Given the description of an element on the screen output the (x, y) to click on. 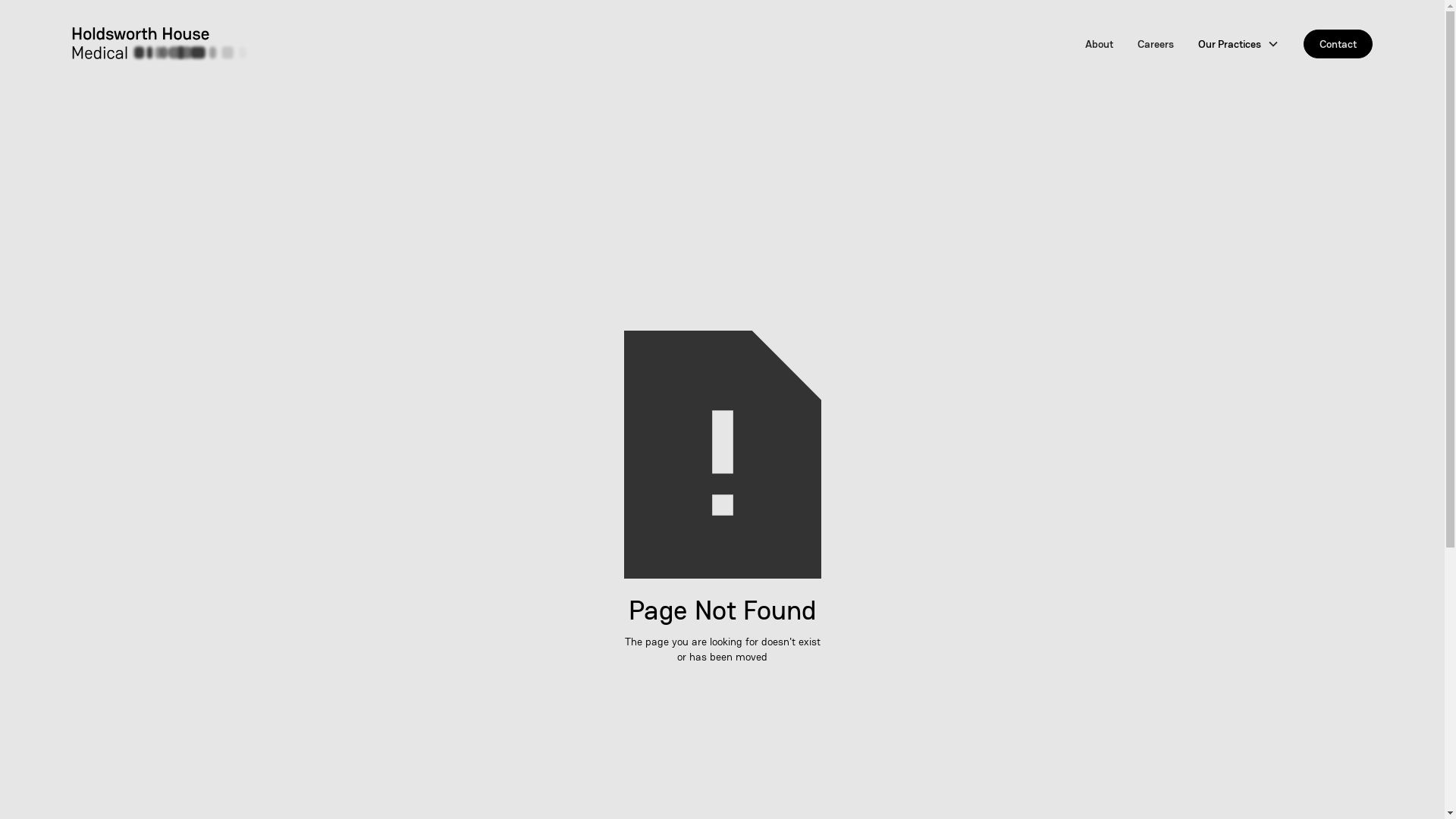
Careers Element type: text (1155, 43)
About Element type: text (1099, 43)
Contact Element type: text (1337, 43)
